Given the description of an element on the screen output the (x, y) to click on. 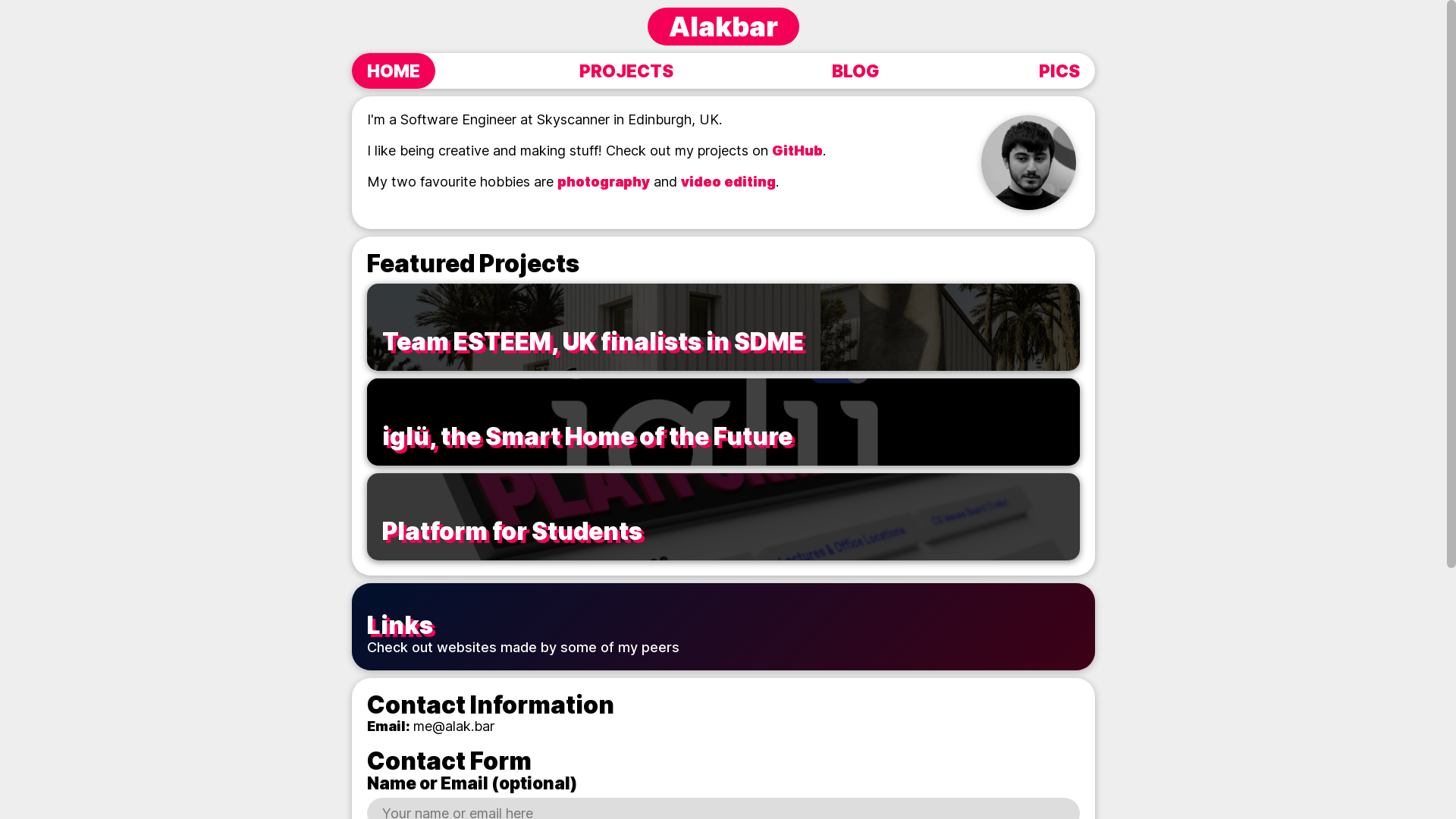
BLOG Element type: text (855, 70)
Team ESTEEM, UK finalists in SDME Element type: text (723, 326)
PICS Element type: text (1059, 70)
HOME Element type: text (393, 70)
Links
Check out websites made by some of my peers Element type: text (723, 625)
photography Element type: text (603, 181)
GitHub Element type: text (796, 150)
video editing Element type: text (727, 181)
Platform for Students Element type: text (723, 516)
PROJECTS Element type: text (626, 70)
Alakbar Element type: text (723, 26)
